Given the description of an element on the screen output the (x, y) to click on. 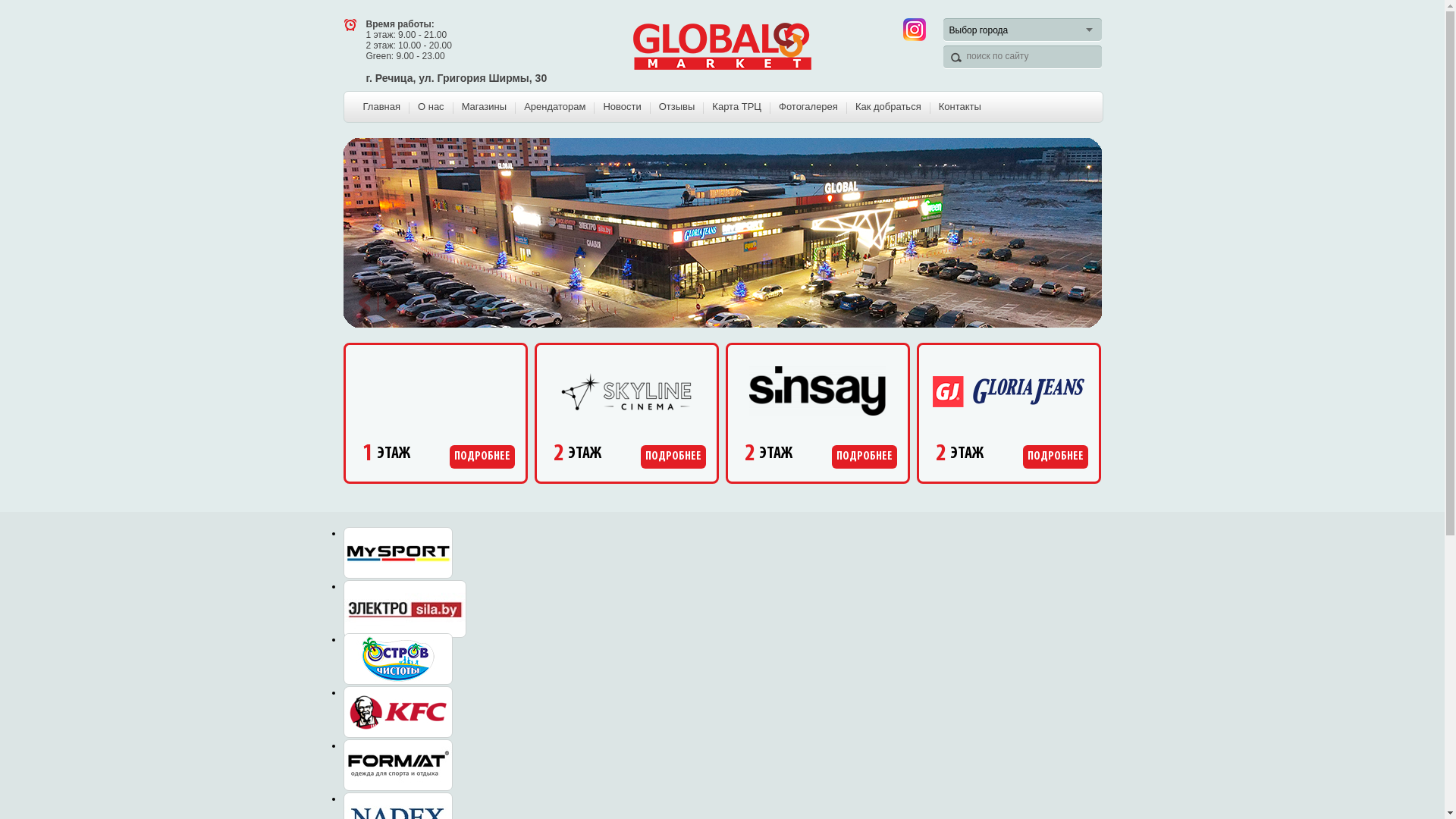
MySPORT Element type: hover (396, 552)
FORMAT Element type: hover (396, 764)
